Given the description of an element on the screen output the (x, y) to click on. 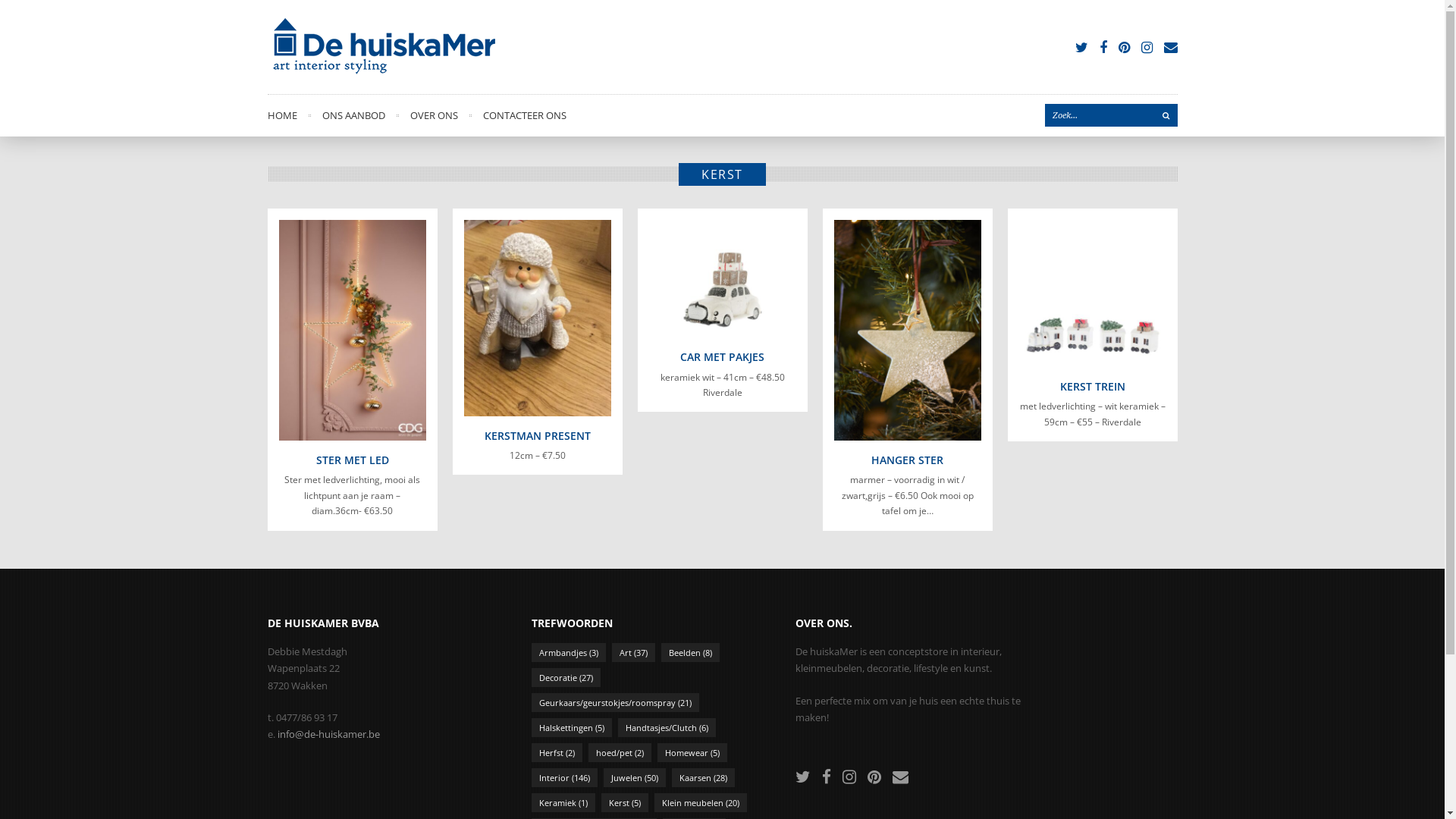
KERST TREIN Element type: text (1092, 386)
Email Element type: text (899, 776)
Kerst trein Element type: hover (1092, 293)
Klein meubelen (20) Element type: text (699, 802)
Car met pakjes Element type: hover (722, 278)
Facebook Element type: text (826, 776)
Pinterest Element type: text (1123, 46)
KERSTMAN PRESENT Element type: text (536, 434)
info@de-huiskamer.be Element type: text (328, 733)
Email Element type: text (1169, 46)
De huiskaMer Element type: hover (380, 46)
Art (37) Element type: text (632, 652)
Homewear (5) Element type: text (691, 752)
Interior (146) Element type: text (563, 777)
Kerstman present Element type: hover (537, 317)
Halskettingen (5) Element type: text (570, 727)
OVER ONS Element type: text (433, 115)
HOME Element type: text (281, 115)
Keramiek (1) Element type: text (562, 802)
CONTACTEER ONS Element type: text (523, 115)
Juwelen (50) Element type: text (634, 777)
Armbandjes (3) Element type: text (567, 652)
Instagram Element type: text (848, 776)
Twitter Element type: text (801, 776)
Twitter Element type: text (1081, 46)
Herfst (2) Element type: text (555, 752)
Ster met led Element type: hover (352, 329)
hoed/pet (2) Element type: text (619, 752)
Facebook Element type: text (1103, 46)
Kerst (5) Element type: text (623, 802)
CAR MET PAKJES Element type: text (722, 356)
STER MET LED Element type: text (351, 459)
ONS AANBOD Element type: text (352, 115)
HANGER STER Element type: text (907, 459)
Handtasjes/Clutch (6) Element type: text (666, 727)
Beelden (8) Element type: text (690, 652)
Instagram Element type: text (1145, 46)
Pinterest Element type: text (874, 776)
Hanger ster Element type: hover (907, 329)
Decoratie (27) Element type: text (564, 677)
Kaarsen (28) Element type: text (702, 777)
Geurkaars/geurstokjes/roomspray (21) Element type: text (614, 702)
